Given the description of an element on the screen output the (x, y) to click on. 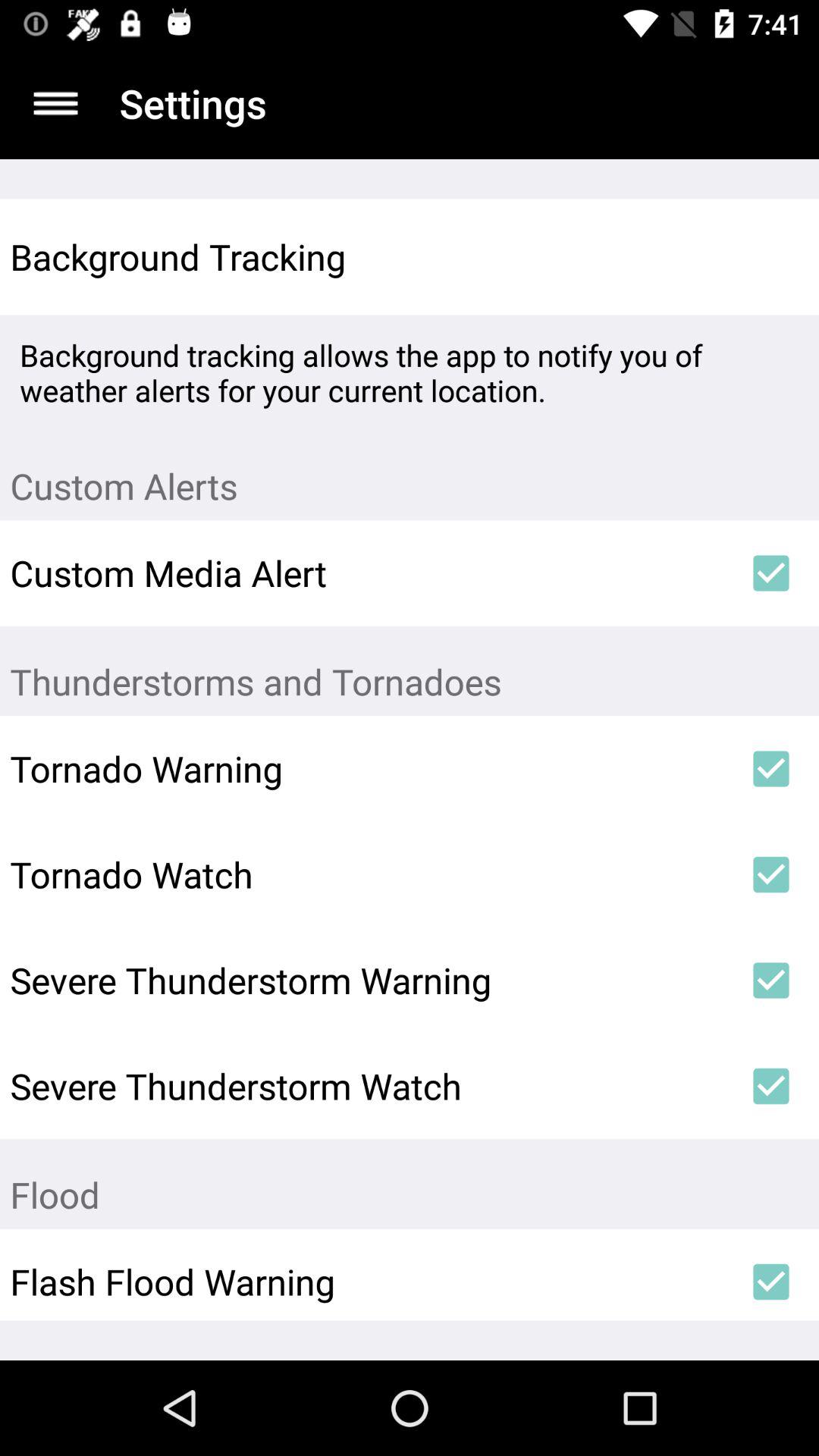
open main menu (55, 103)
